Given the description of an element on the screen output the (x, y) to click on. 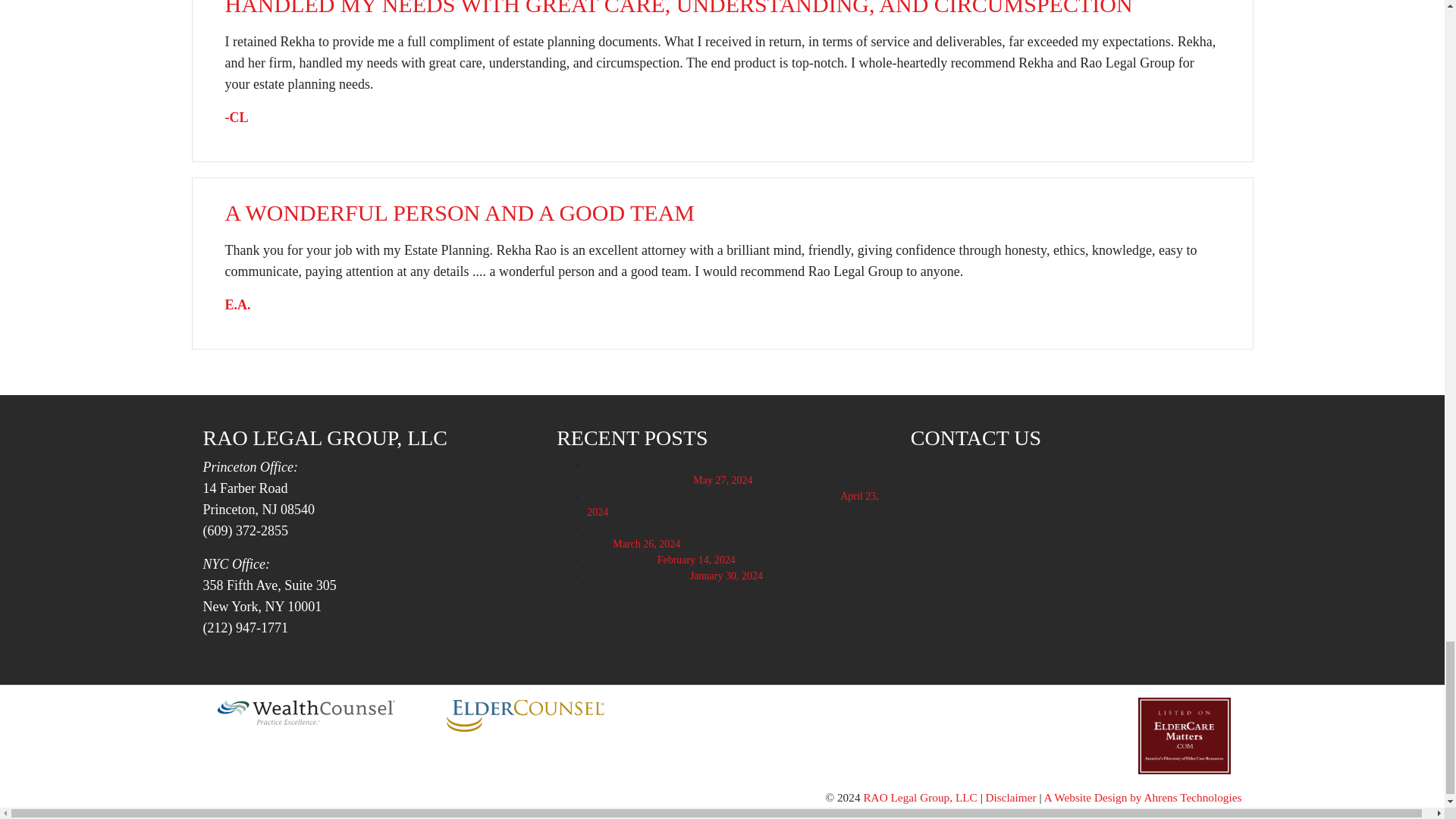
A Website Design by Ahrens Technologies (1142, 797)
Revocable Living Trust (636, 575)
RAO Legal Group, LLC (919, 797)
Disclaimer (1010, 797)
